Given the description of an element on the screen output the (x, y) to click on. 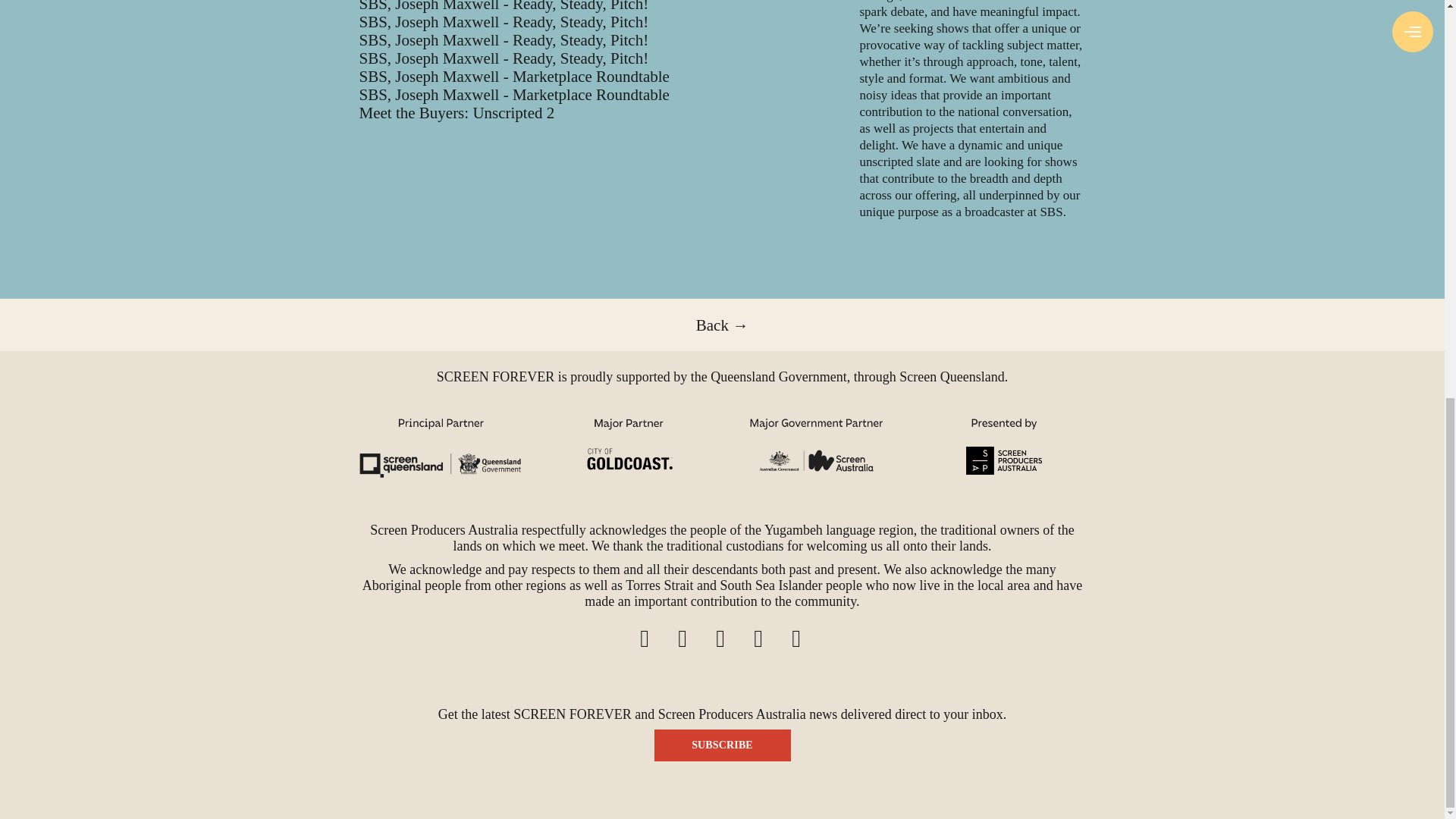
Session Details (504, 22)
SBS, Joseph Maxwell - Ready, Steady, Pitch! (504, 6)
Session Details (514, 76)
Session Details (504, 6)
Session Details (456, 113)
Session Details (514, 94)
Session Details (504, 58)
Session Details (504, 40)
